Given the description of an element on the screen output the (x, y) to click on. 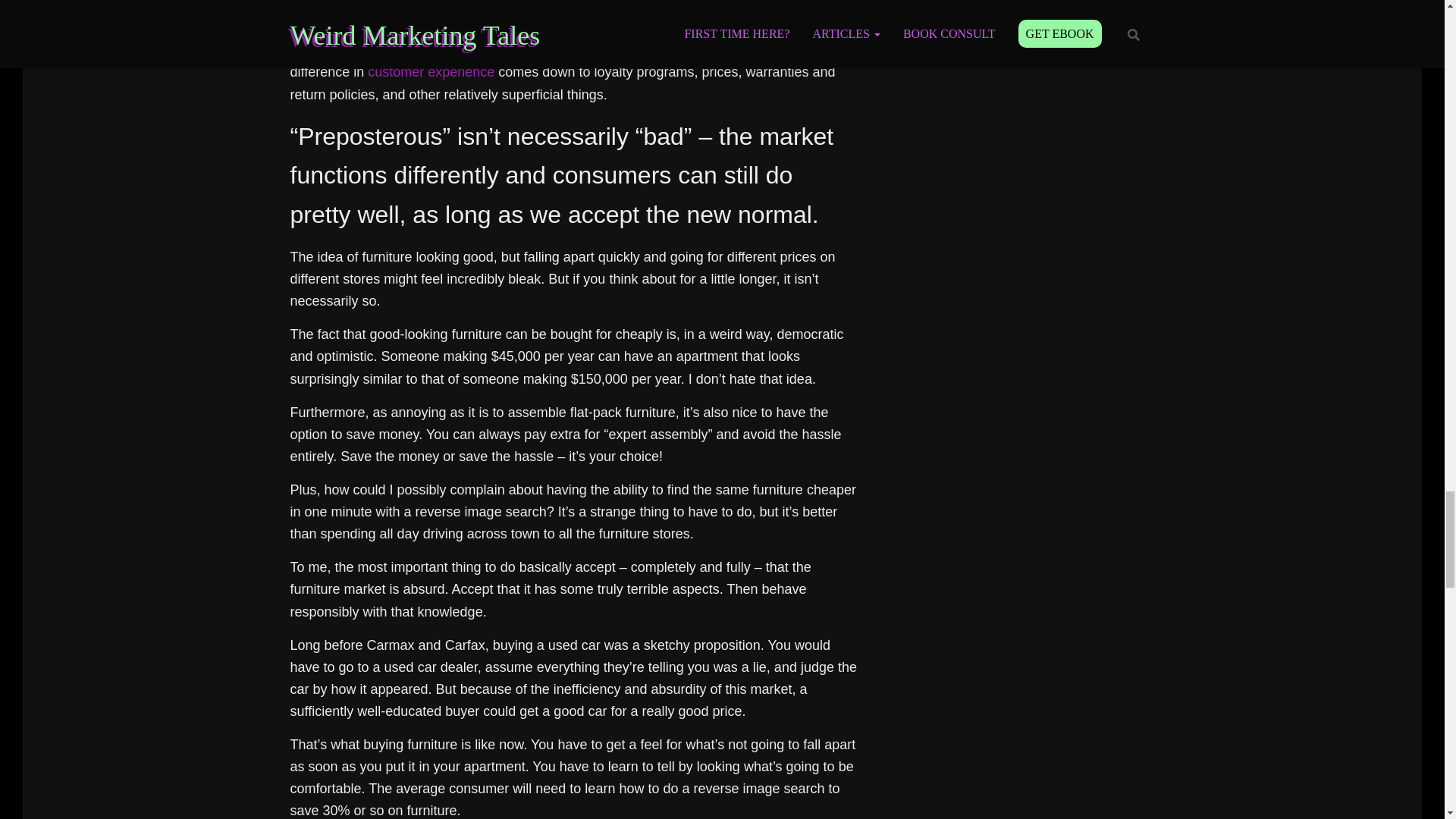
This is How You Provide a Great Customer Experience (431, 71)
customer experience (431, 71)
